Given the description of an element on the screen output the (x, y) to click on. 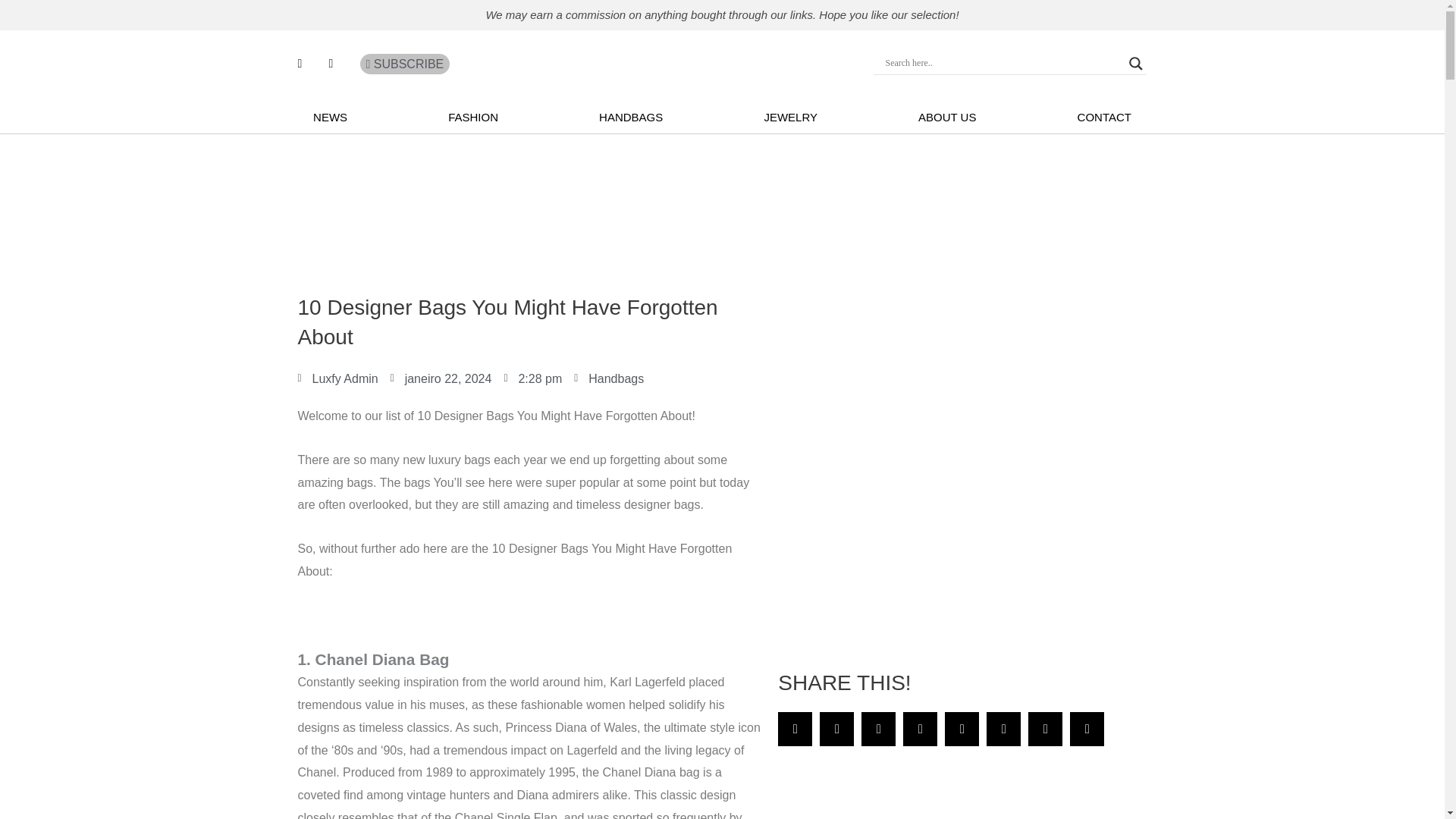
Handbags (615, 378)
NEWS (329, 117)
CONTACT (1104, 117)
SUBSCRIBE (404, 64)
janeiro 22, 2024 (441, 378)
ABOUT US (946, 117)
JEWELRY (790, 117)
HANDBAGS (630, 117)
FASHION (472, 117)
Luxfy Admin (337, 378)
